Given the description of an element on the screen output the (x, y) to click on. 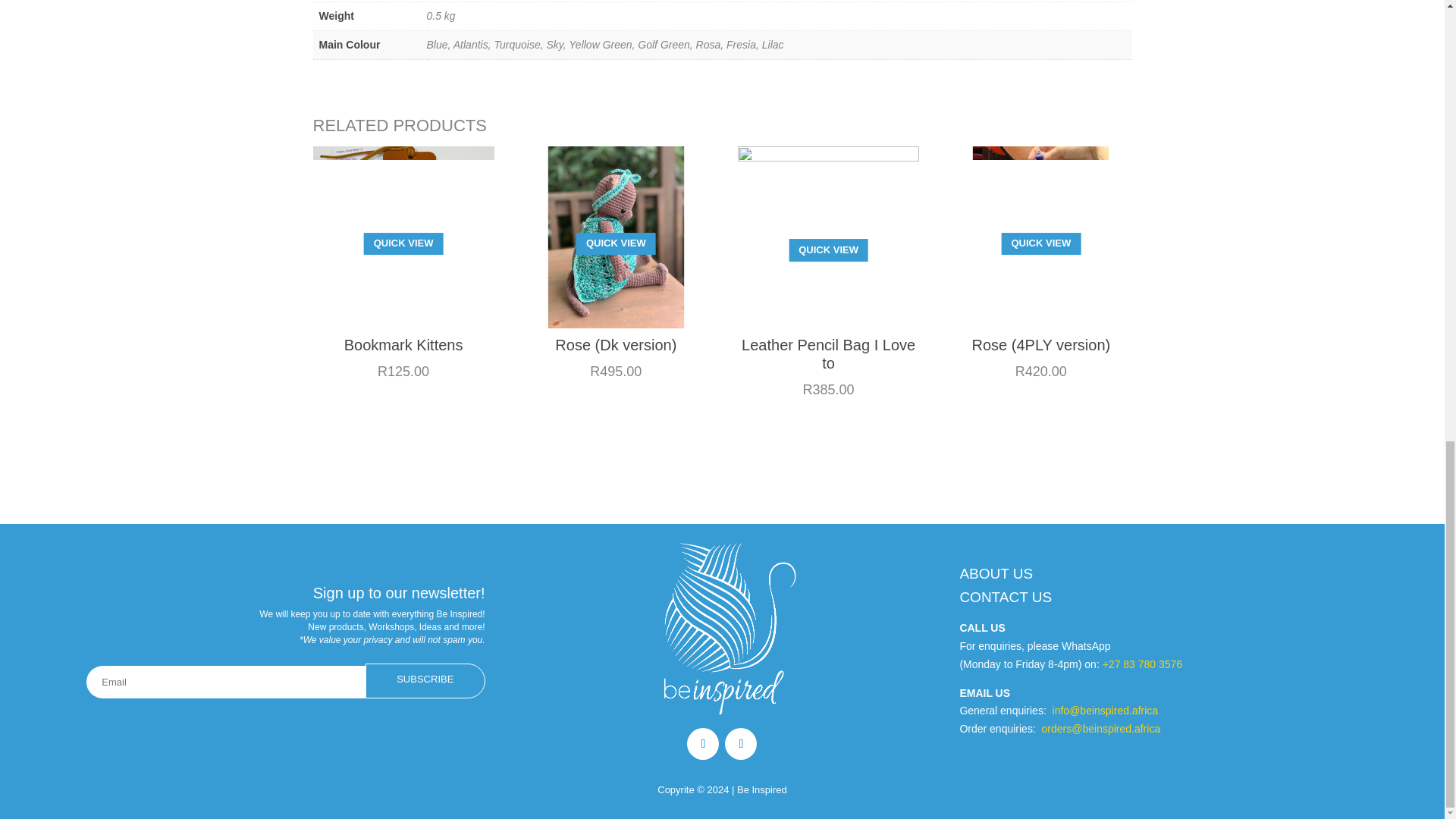
Be-Inspired-White-Logo (721, 626)
Follow on Instagram (741, 744)
Follow on Facebook (703, 744)
